Given the description of an element on the screen output the (x, y) to click on. 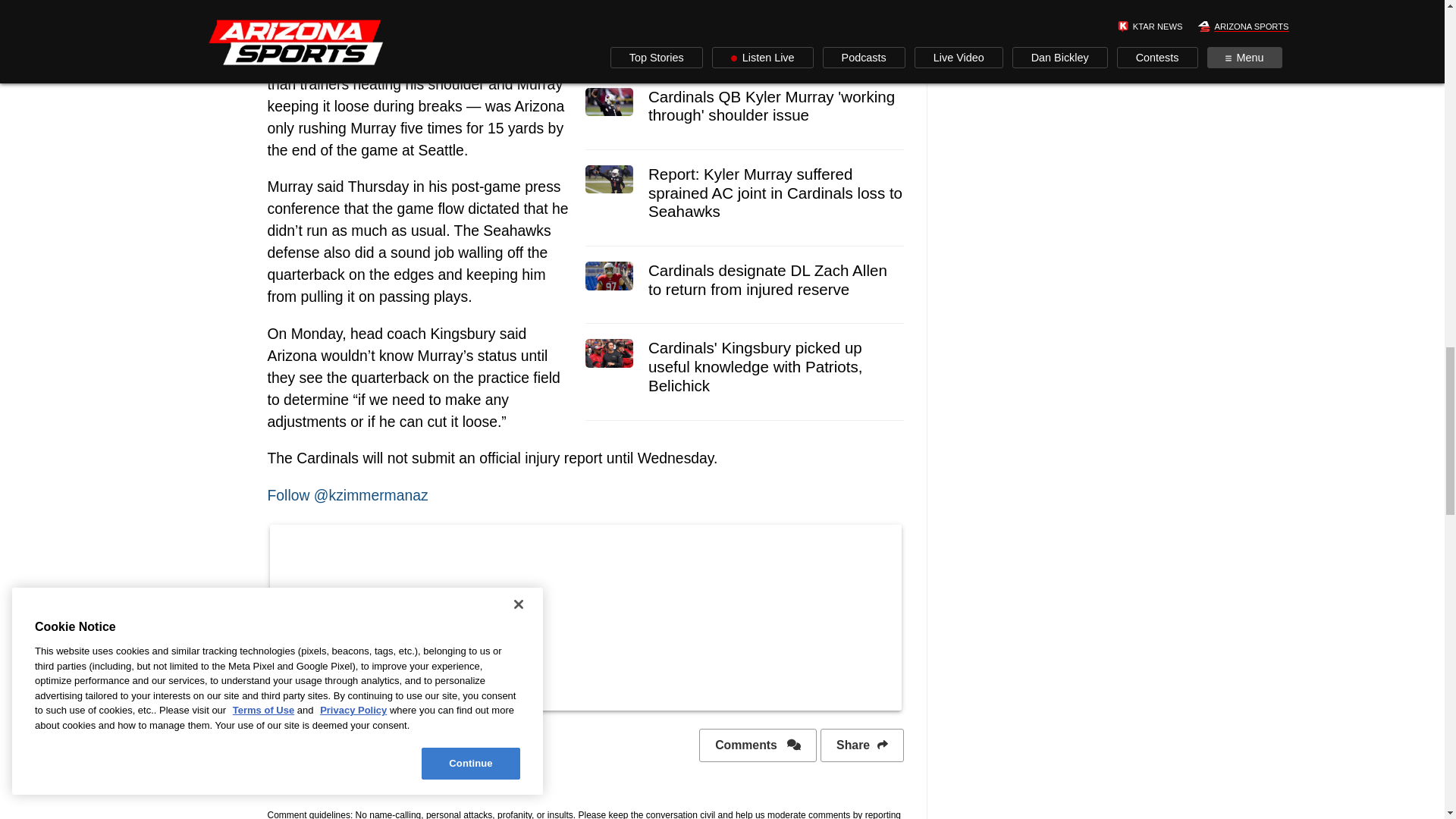
3rd party ad content (584, 2)
Signup Widget Embed (585, 614)
